Given the description of an element on the screen output the (x, y) to click on. 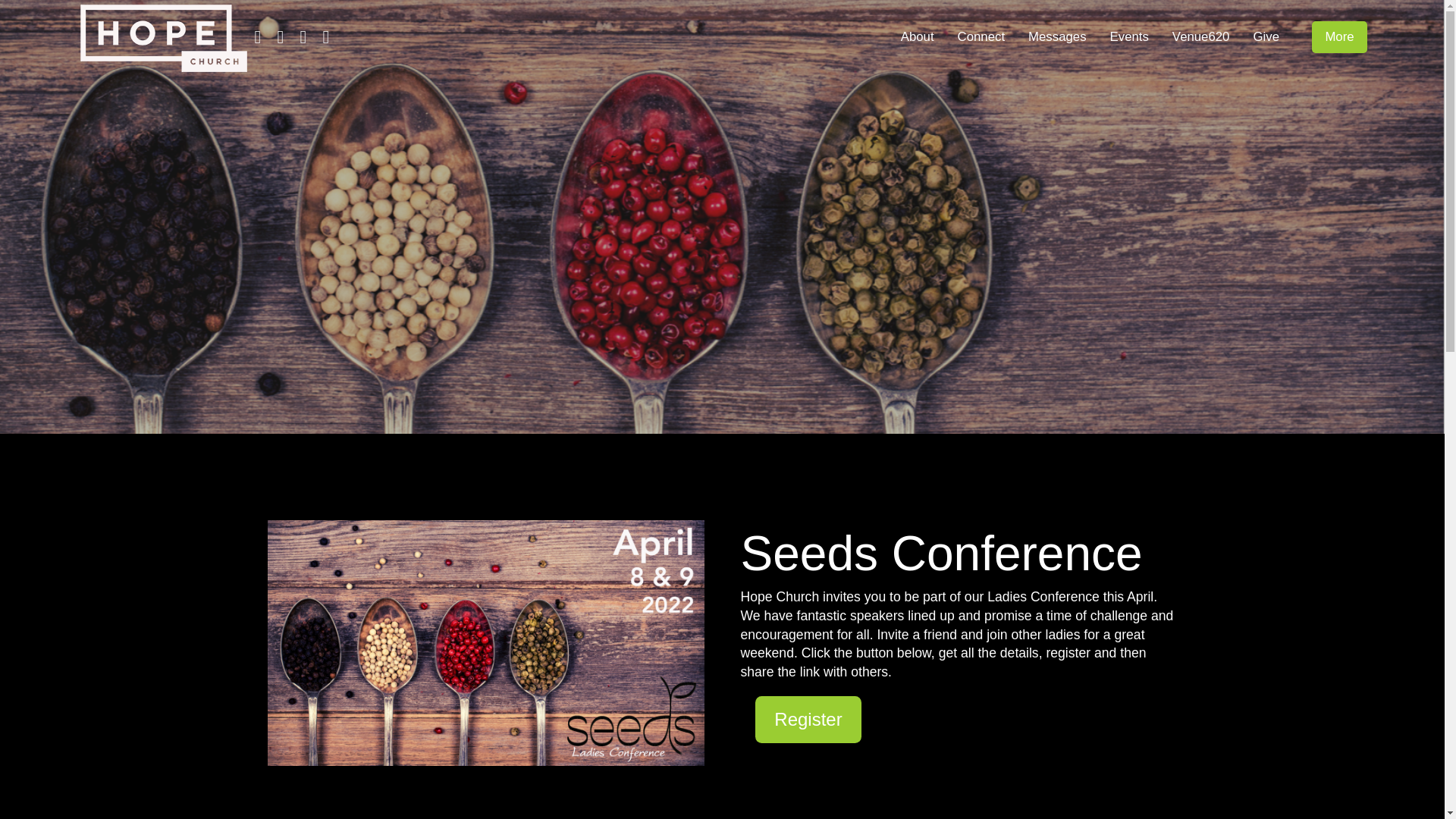
Connect (980, 37)
Messages (1056, 37)
Register (808, 719)
Venue620 (1200, 37)
More (1339, 37)
